Given the description of an element on the screen output the (x, y) to click on. 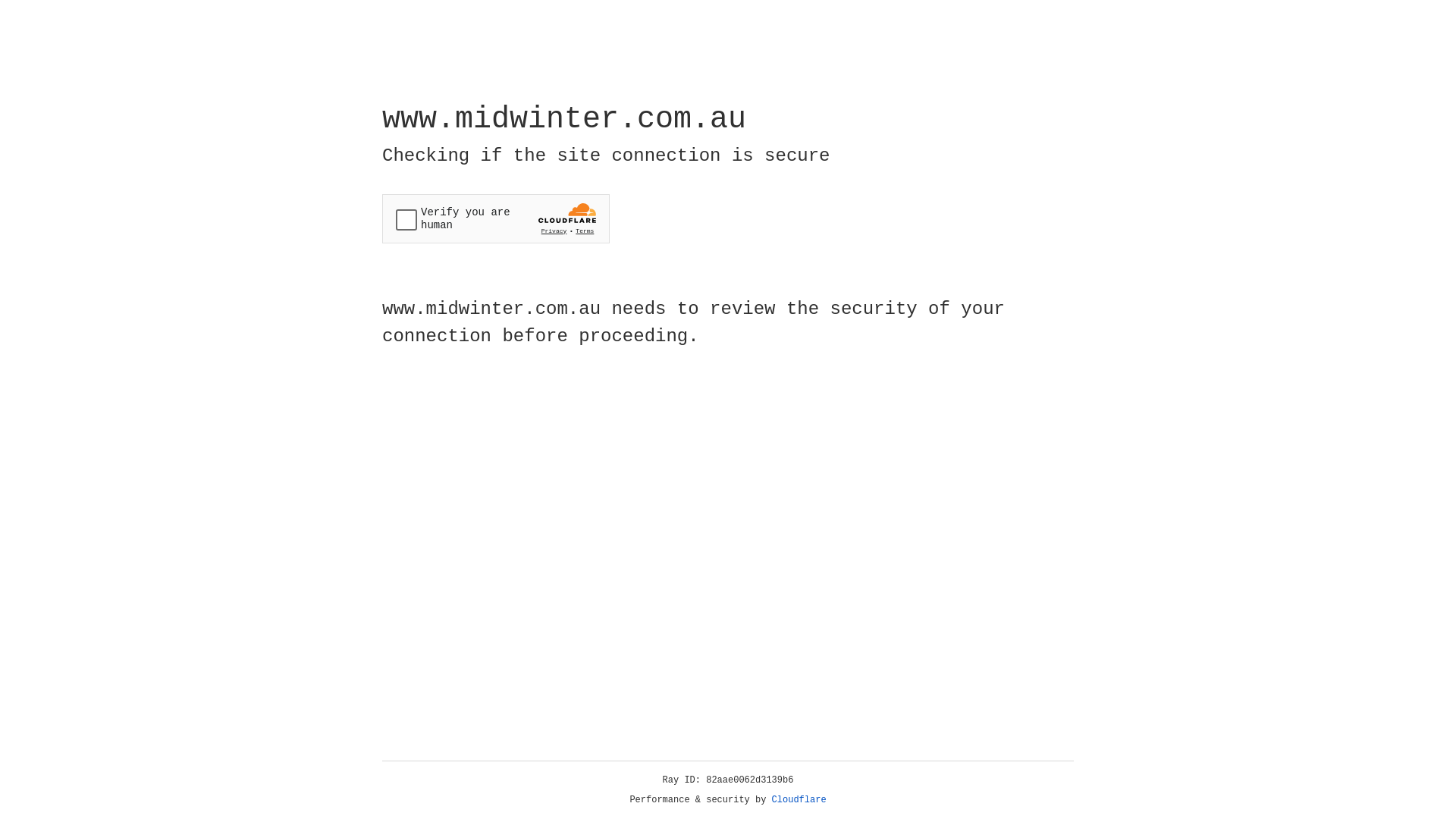
Widget containing a Cloudflare security challenge Element type: hover (495, 218)
Cloudflare Element type: text (798, 799)
